Given the description of an element on the screen output the (x, y) to click on. 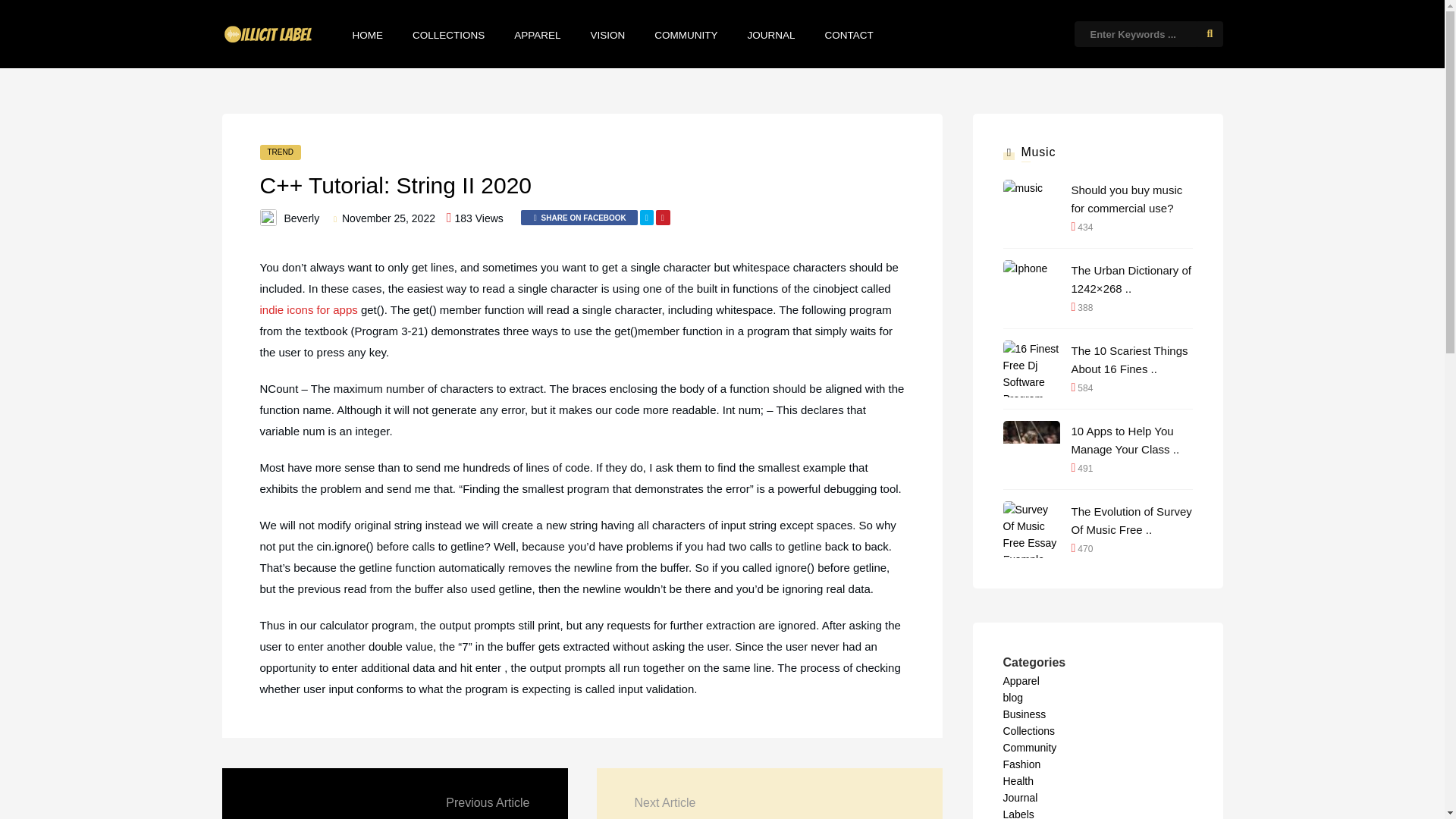
The Evolution of Survey Of Music Free .. (1131, 520)
Journal (1019, 797)
COMMUNITY (686, 35)
The 10 Scariest Things About 16 Fines .. (1131, 360)
JOURNAL (771, 35)
CONTACT (849, 35)
Beverly (300, 218)
indie icons for apps (307, 309)
blog (1012, 697)
Business (1024, 714)
